Given the description of an element on the screen output the (x, y) to click on. 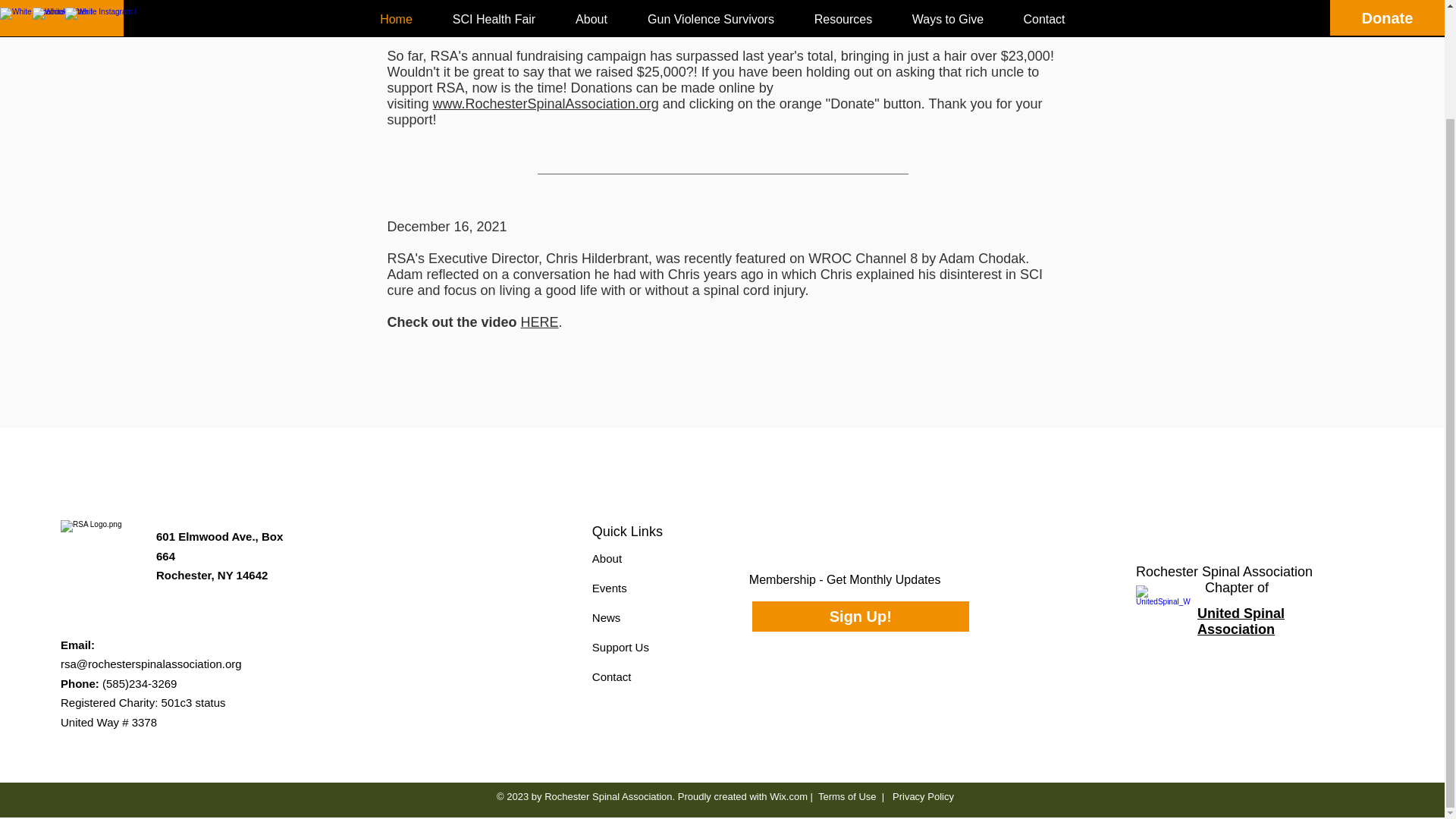
Contact (611, 676)
Events (609, 587)
Sign Up! (860, 616)
Support Us (620, 646)
HERE (540, 322)
About (606, 558)
News (606, 617)
www.RochesterSpinalAssociation.org (545, 103)
